Given the description of an element on the screen output the (x, y) to click on. 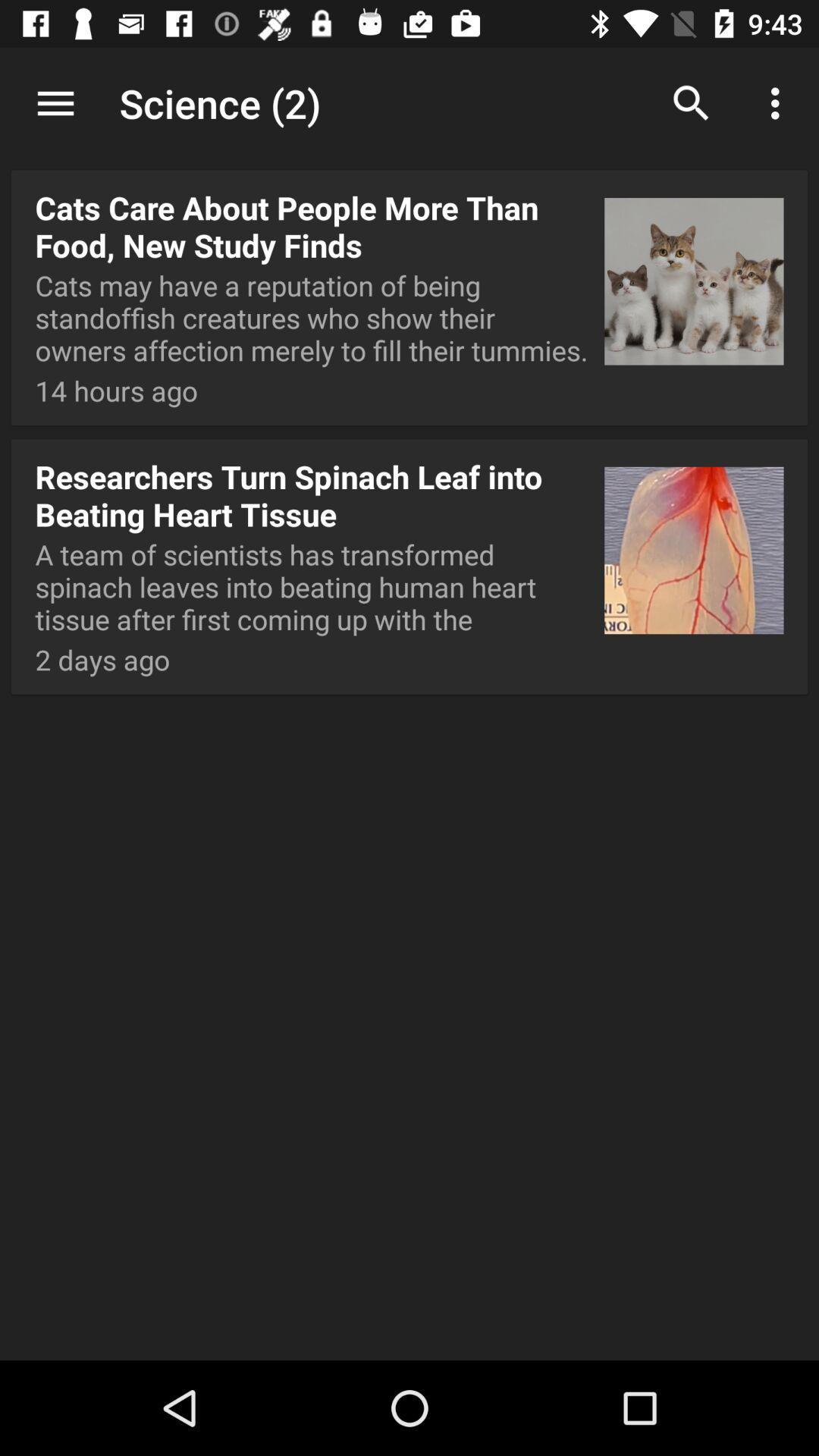
click item above cats care about item (55, 103)
